Given the description of an element on the screen output the (x, y) to click on. 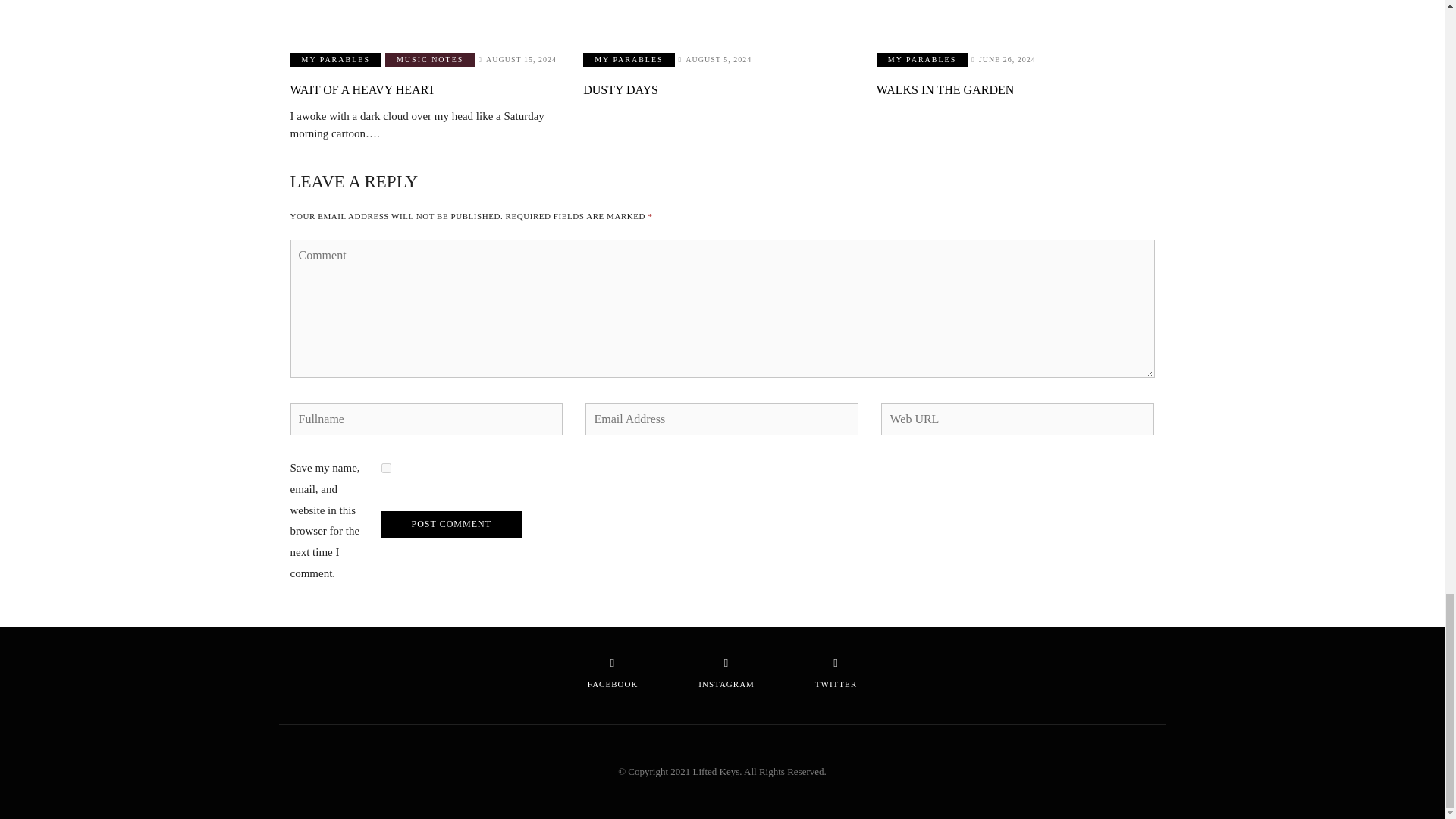
MY PARABLES (334, 59)
Dusty Days (722, 17)
yes (385, 468)
Wait of a Heavy Heart (428, 17)
Walks in the Garden (1015, 17)
Post Comment (450, 524)
